Given the description of an element on the screen output the (x, y) to click on. 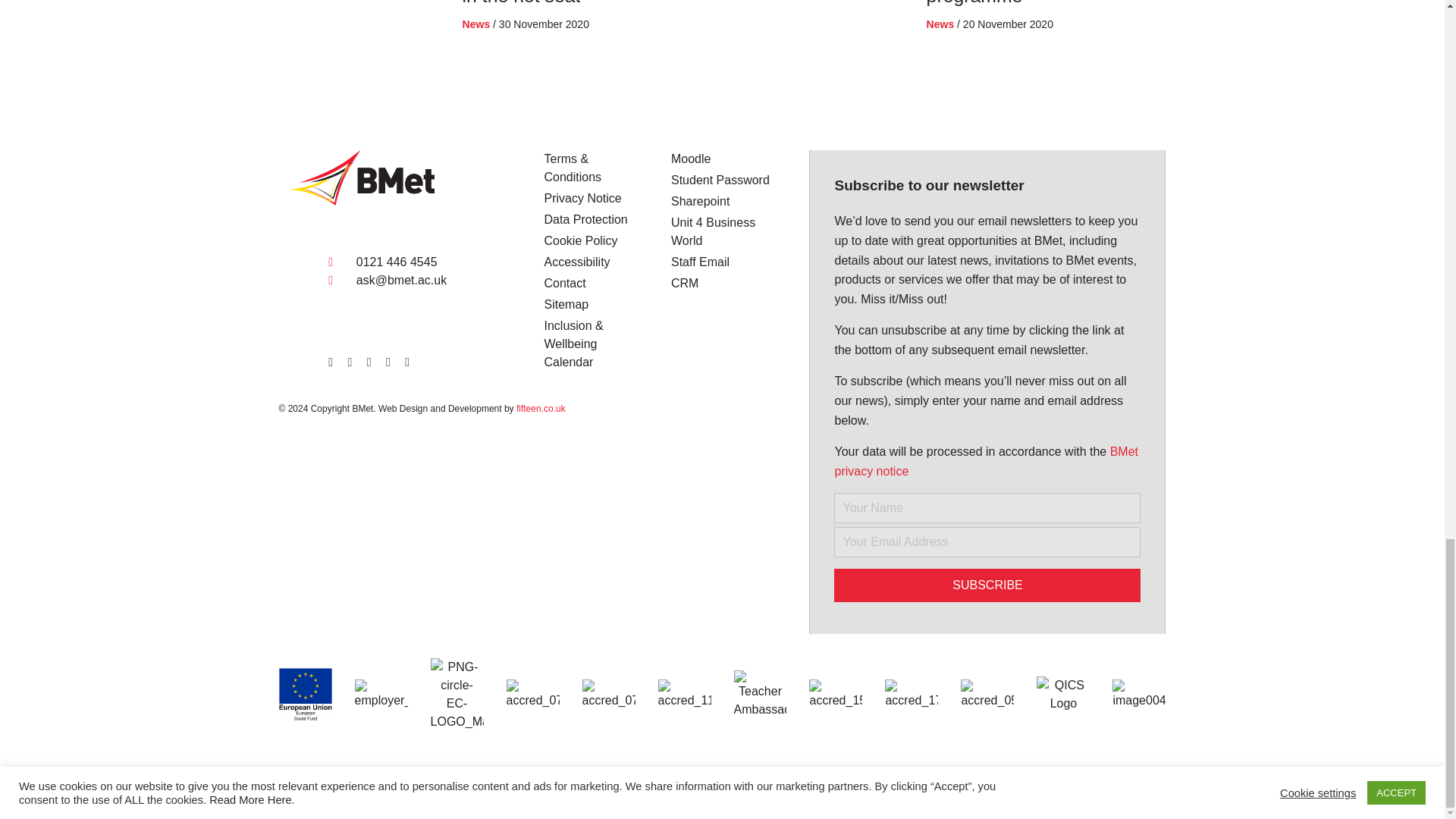
website design and development by Fifteen (89, 787)
Fifteen (216, 787)
Subscribe (987, 584)
